Given the description of an element on the screen output the (x, y) to click on. 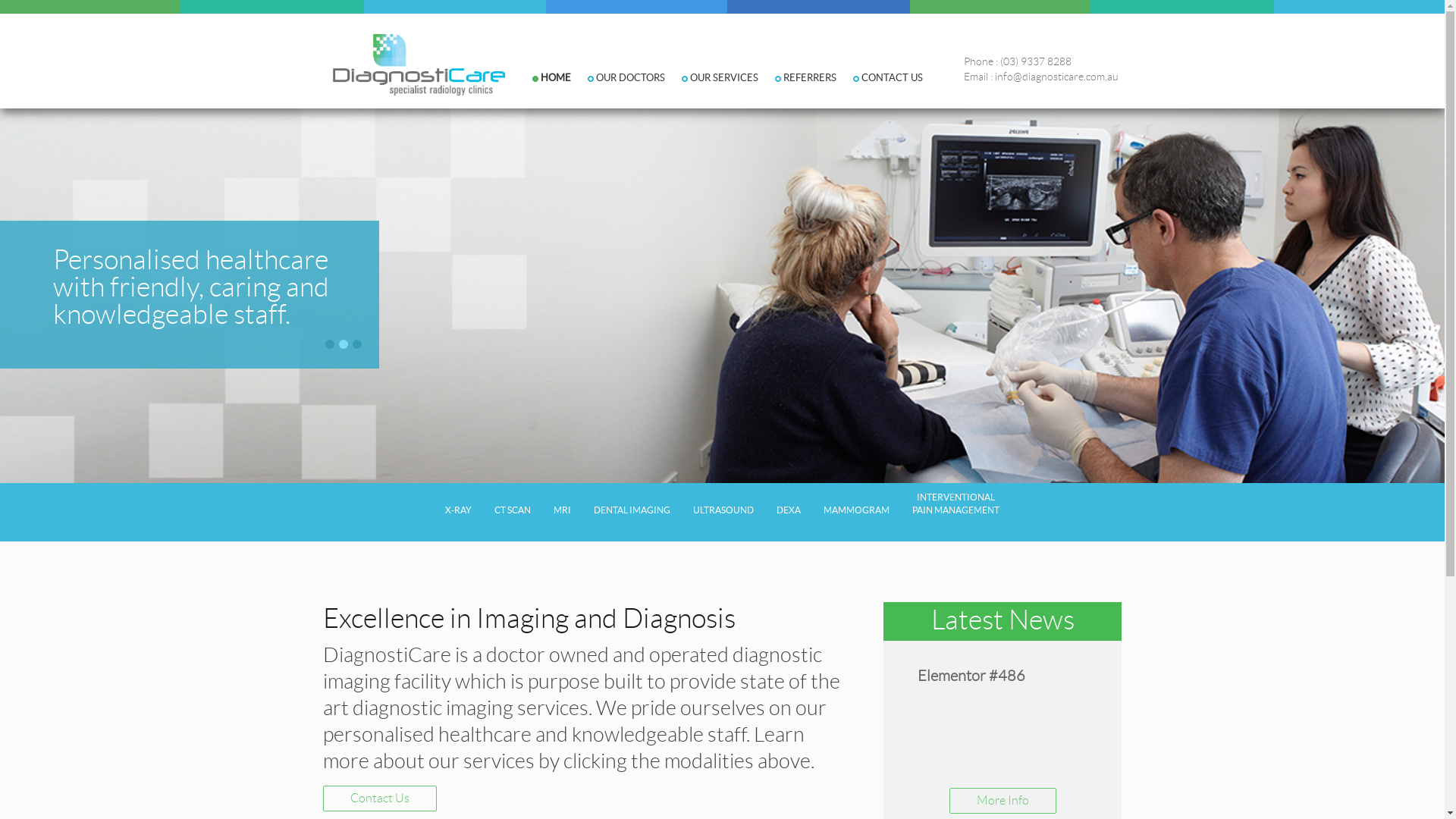
Contact Us Element type: text (379, 798)
More Info Element type: text (1002, 800)
INTERVENTIONAL PAIN MANAGEMENT Element type: text (955, 511)
ULTRASOUND Element type: text (723, 511)
(03) 9337 8288 Element type: text (1035, 61)
CT SCAN Element type: text (512, 511)
CONTACT US Element type: text (881, 89)
DEXA Element type: text (788, 511)
OUR SERVICES Element type: text (712, 89)
MRI Element type: text (562, 511)
REFERRERS Element type: text (799, 89)
MAMMOGRAM Element type: text (856, 511)
X-RAY Element type: text (458, 511)
OUR DOCTORS Element type: text (619, 89)
info@diagnosticare.com.au Element type: text (1056, 77)
DiagnostiCare Specialist Radiology Clinic Element type: hover (414, 64)
DENTAL IMAGING Element type: text (631, 511)
HOME Element type: text (548, 89)
